Given the description of an element on the screen output the (x, y) to click on. 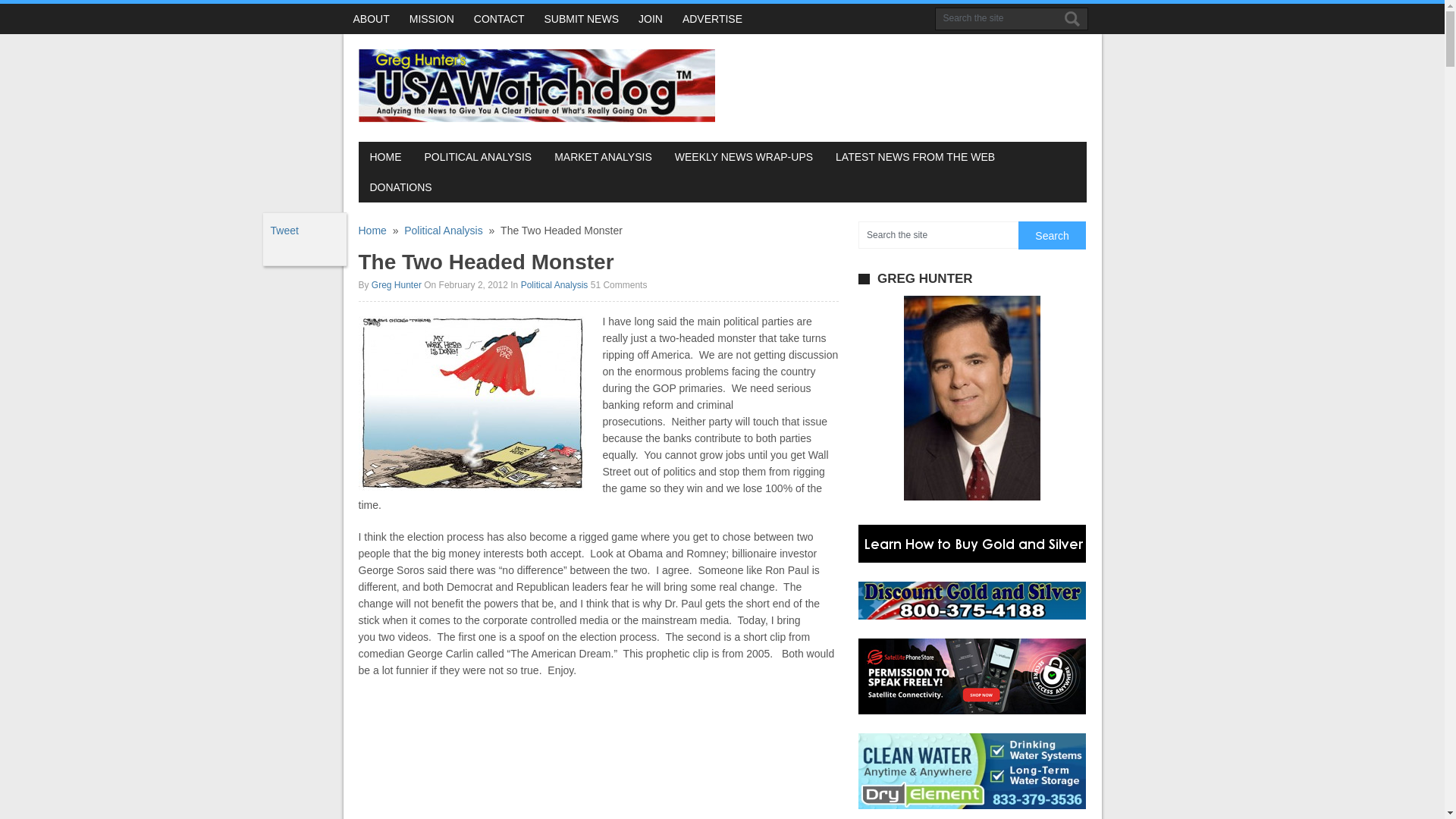
HOME (385, 156)
1 (471, 403)
ABOUT (370, 19)
ADVERTISE (712, 19)
CONTACT (499, 19)
Search (1069, 18)
Home (371, 230)
DONATIONS (400, 186)
LATEST NEWS FROM THE WEB (915, 156)
POLITICAL ANALYSIS (477, 156)
Search (1050, 235)
Search the site (938, 234)
JOIN (650, 19)
Search (1069, 18)
Search the site (997, 17)
